Given the description of an element on the screen output the (x, y) to click on. 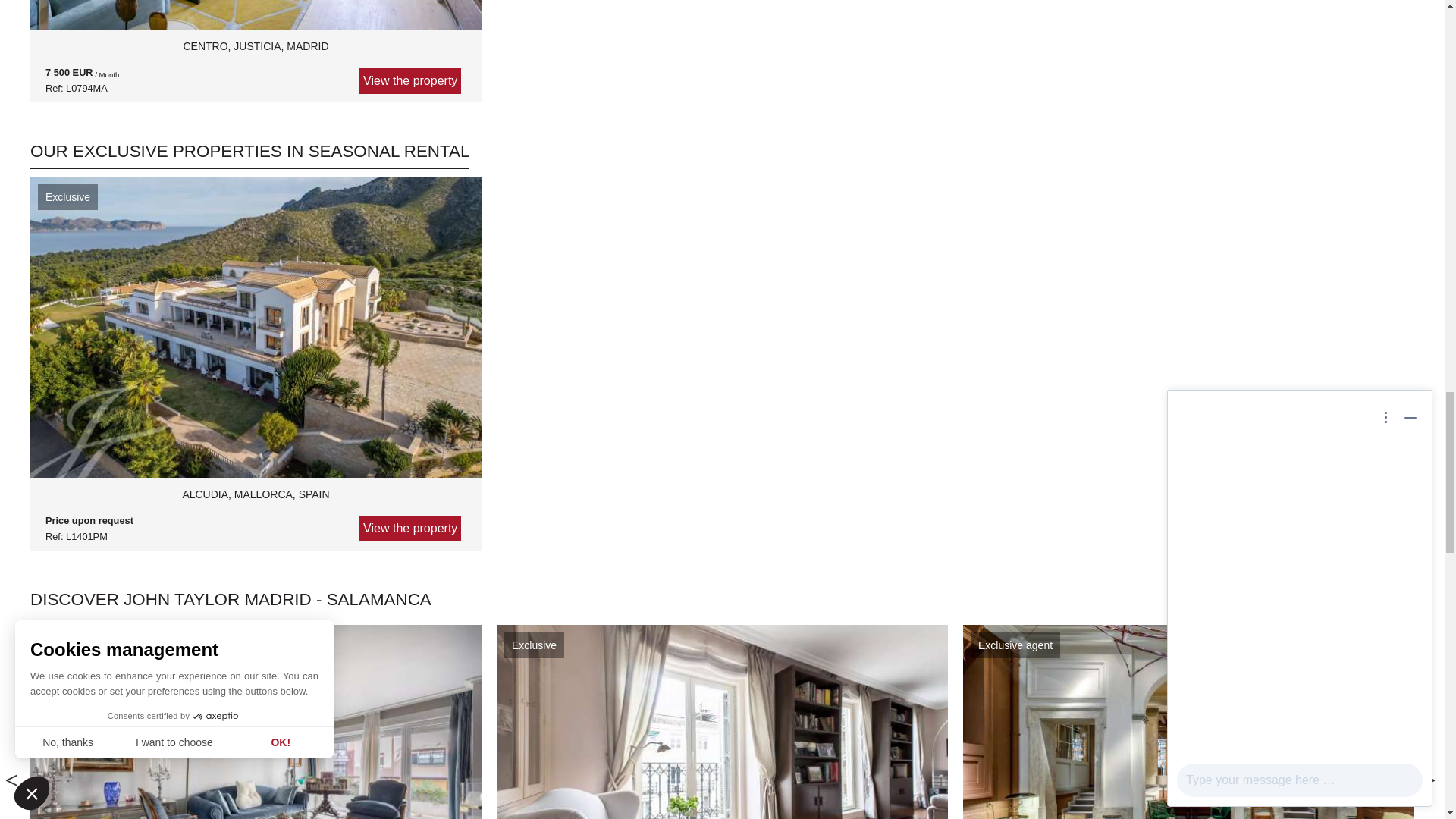
Rental Apartment Madrid (255, 15)
Rental Apartment Madrid (255, 61)
Seasonal rental Mansion Alcudia (255, 509)
Discover JOHN TAYLOR MADRID - SALAMANCA (230, 603)
Our exclusive properties in seasonal rental (249, 155)
